Given the description of an element on the screen output the (x, y) to click on. 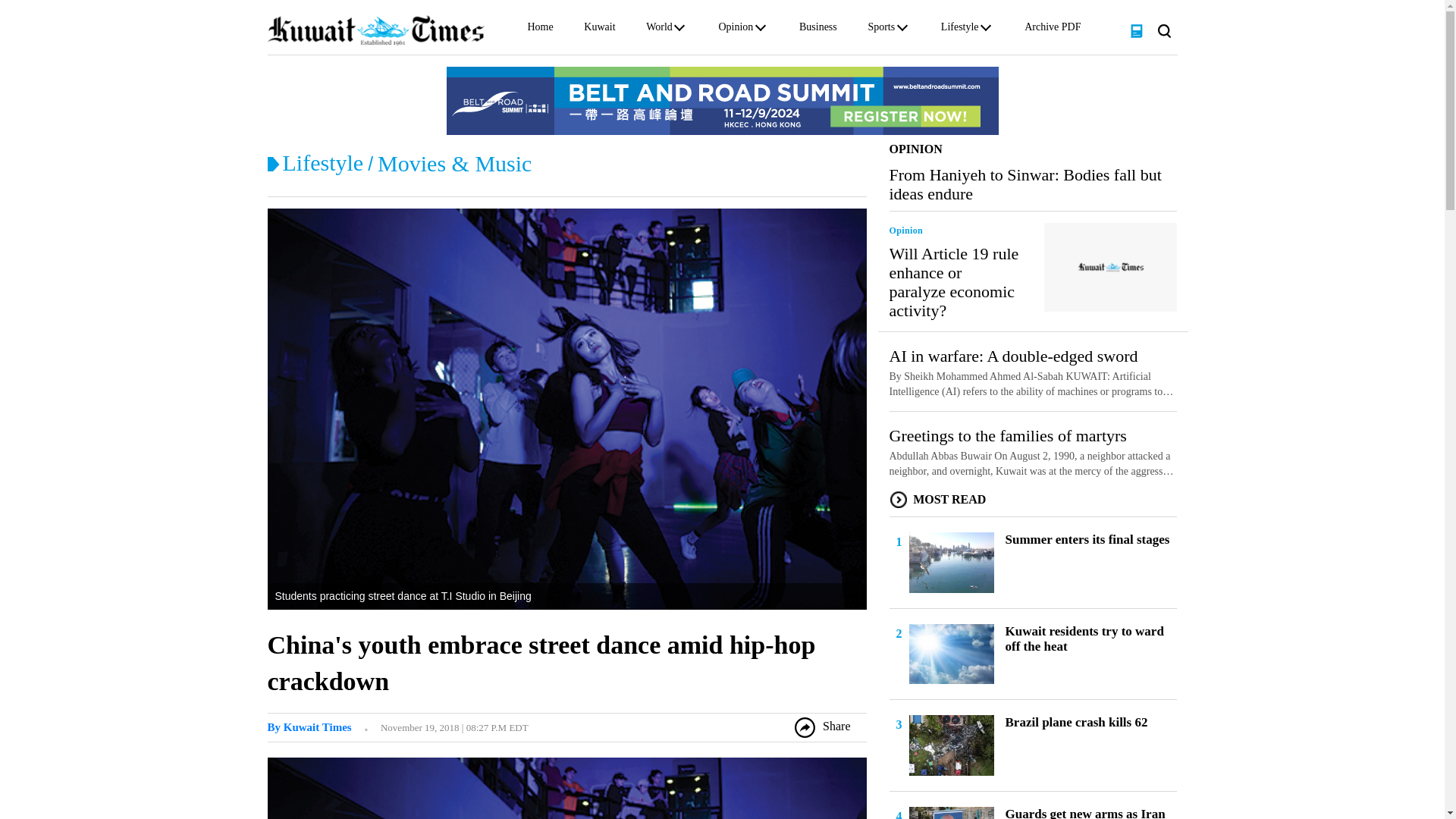
pdf (1136, 29)
Banner-Ad (721, 99)
Home (540, 29)
Kuwait (598, 29)
Business (818, 29)
Lifestyle (322, 162)
Opinion (734, 29)
World (659, 29)
Archive PDF (1052, 29)
By Kuwait Times (308, 727)
